Given the description of an element on the screen output the (x, y) to click on. 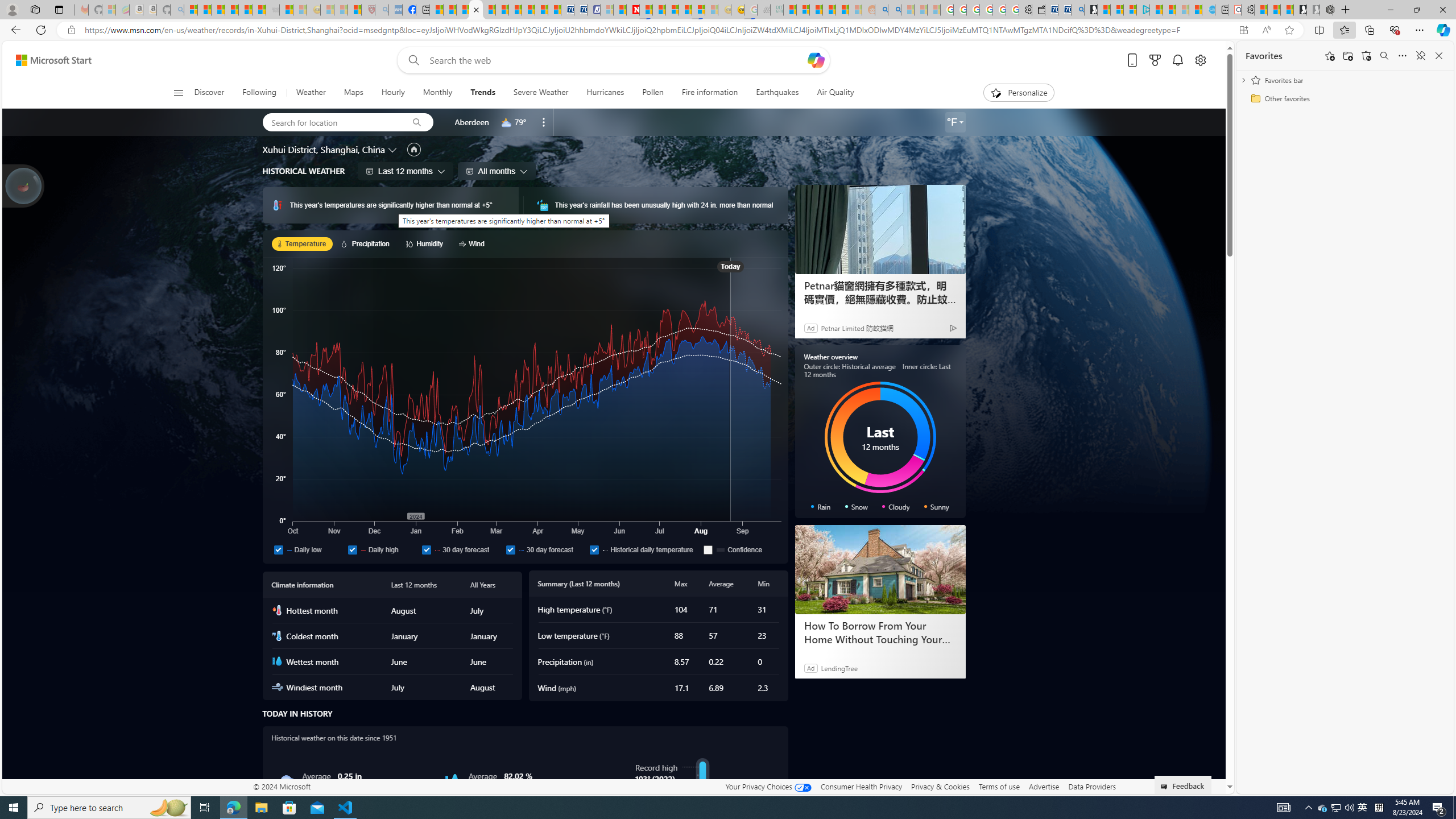
App available. Install Microsoft Start Weather (1243, 29)
Add this page to favorites (1330, 55)
Confidence (708, 549)
Close favorites (1439, 55)
Search favorites (1383, 55)
